Given the description of an element on the screen output the (x, y) to click on. 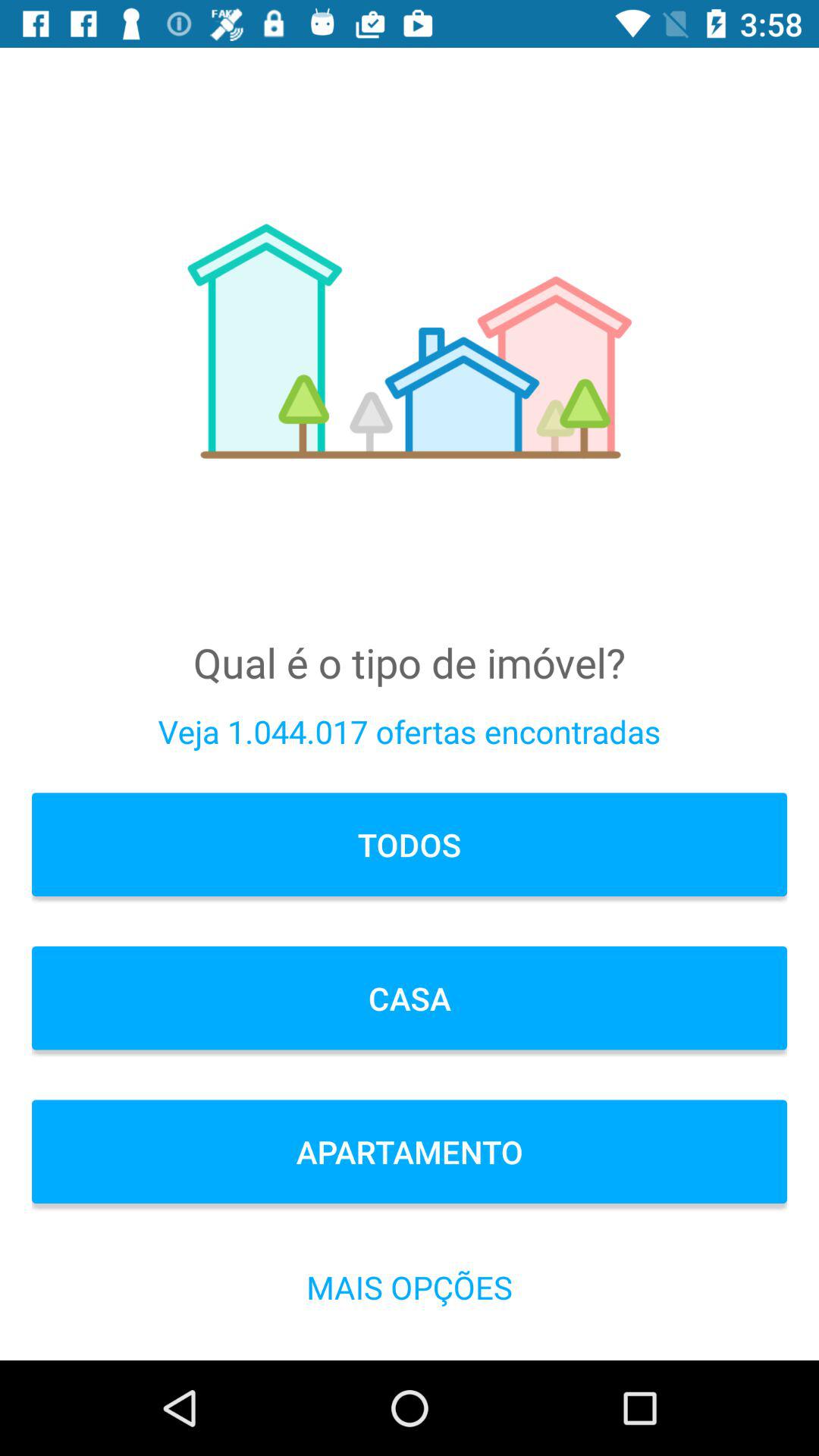
tap todos (409, 844)
